Given the description of an element on the screen output the (x, y) to click on. 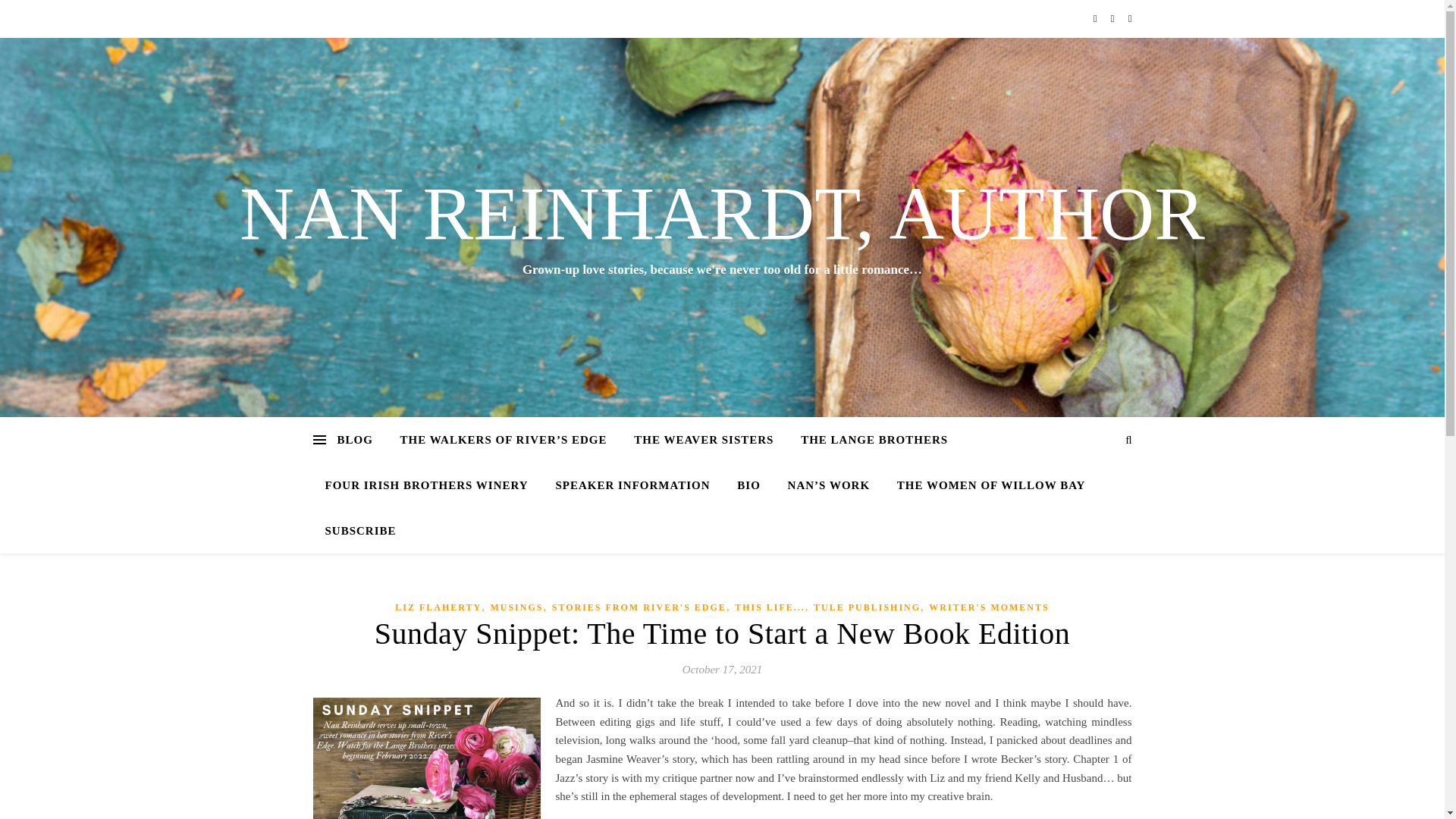
BIO (749, 484)
SUBSCRIBE (354, 530)
SPEAKER INFORMATION (632, 484)
THE WOMEN OF WILLOW BAY (991, 484)
THE WEAVER SISTERS (703, 439)
THE LANGE BROTHERS (874, 439)
FOUR IRISH BROTHERS WINERY (426, 484)
BLOG (360, 439)
